Given the description of an element on the screen output the (x, y) to click on. 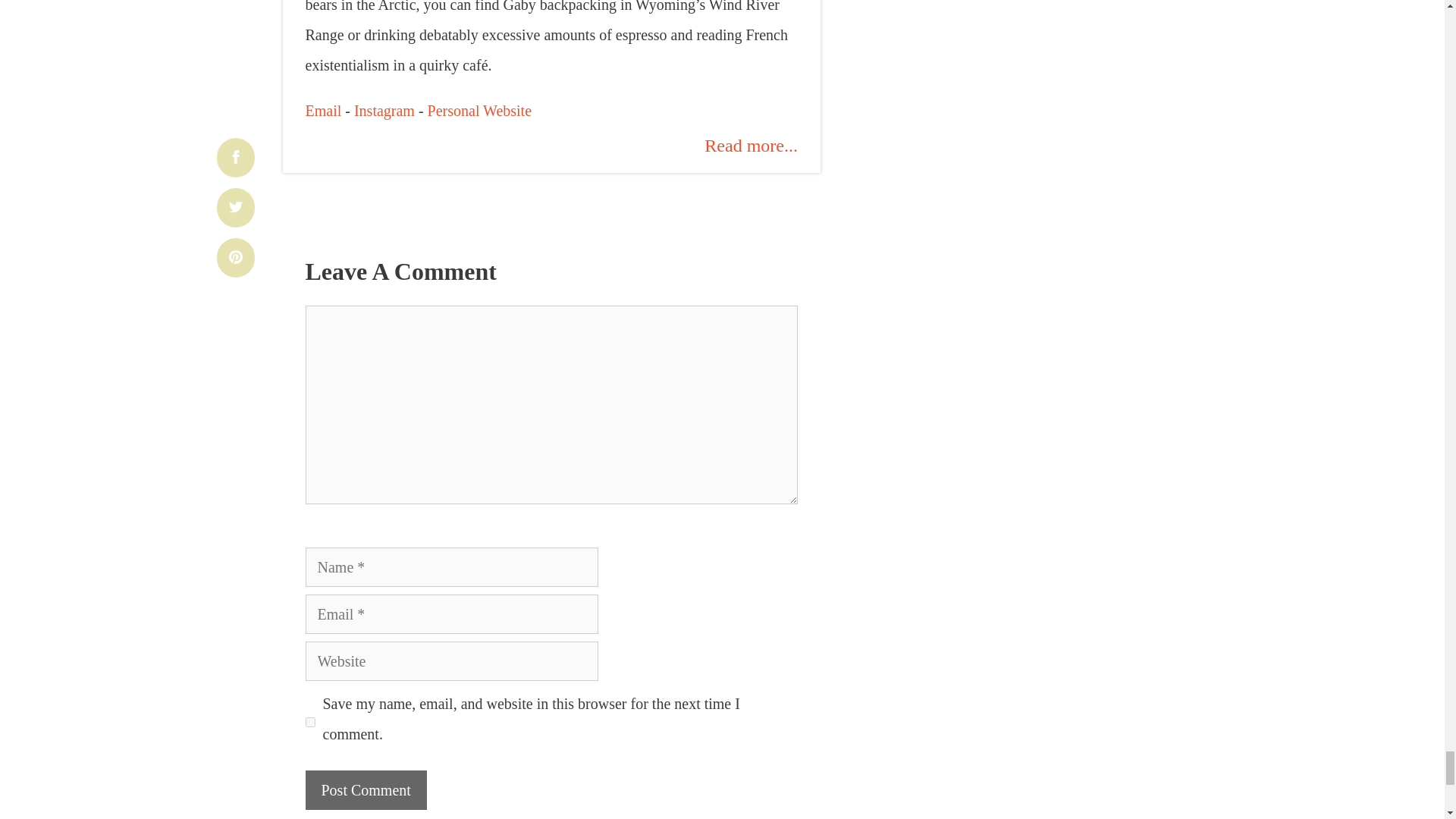
Read more (750, 144)
yes (309, 722)
Post Comment (365, 789)
